Given the description of an element on the screen output the (x, y) to click on. 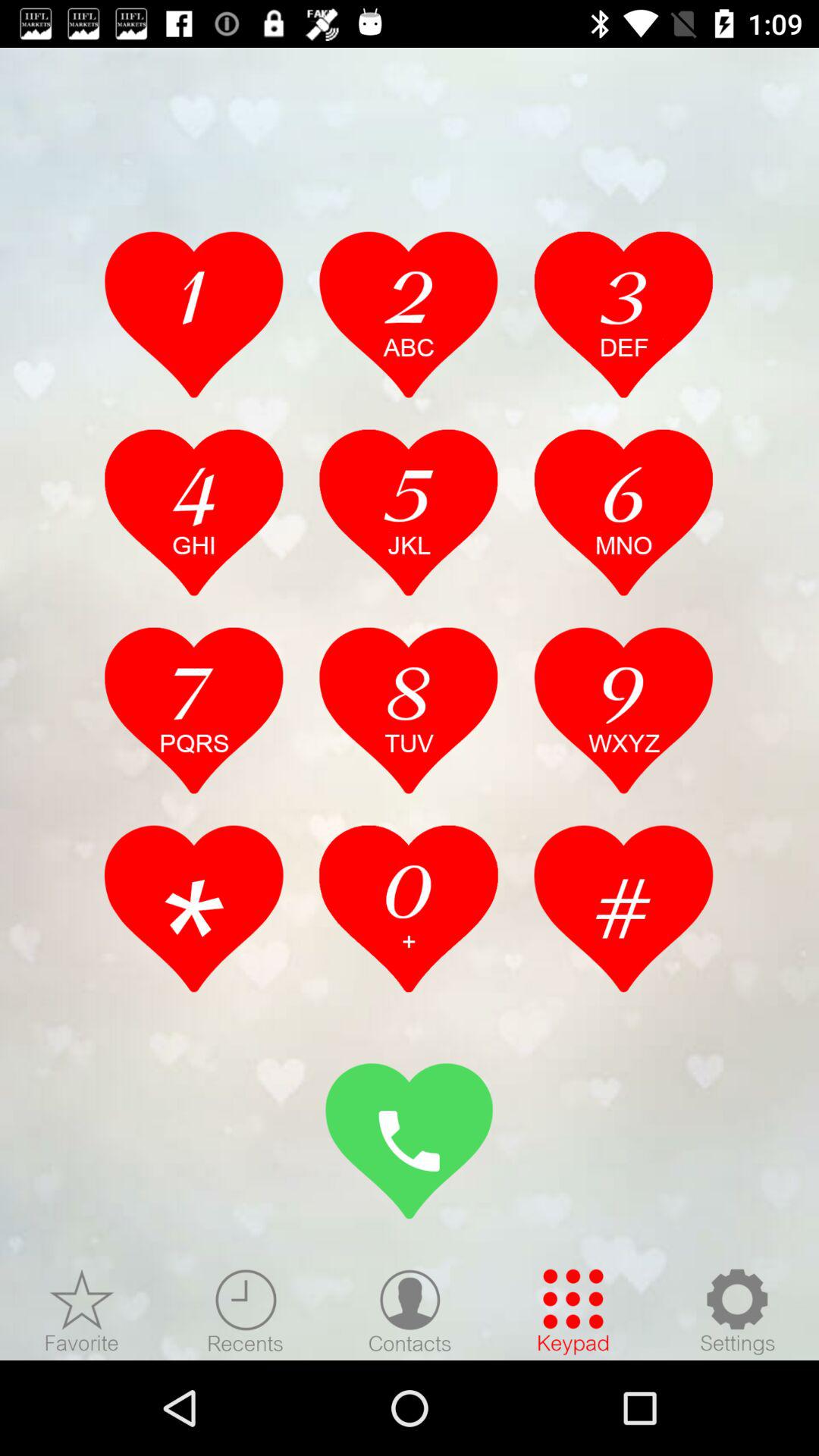
novedosa pantalla de corazones (81, 1311)
